Given the description of an element on the screen output the (x, y) to click on. 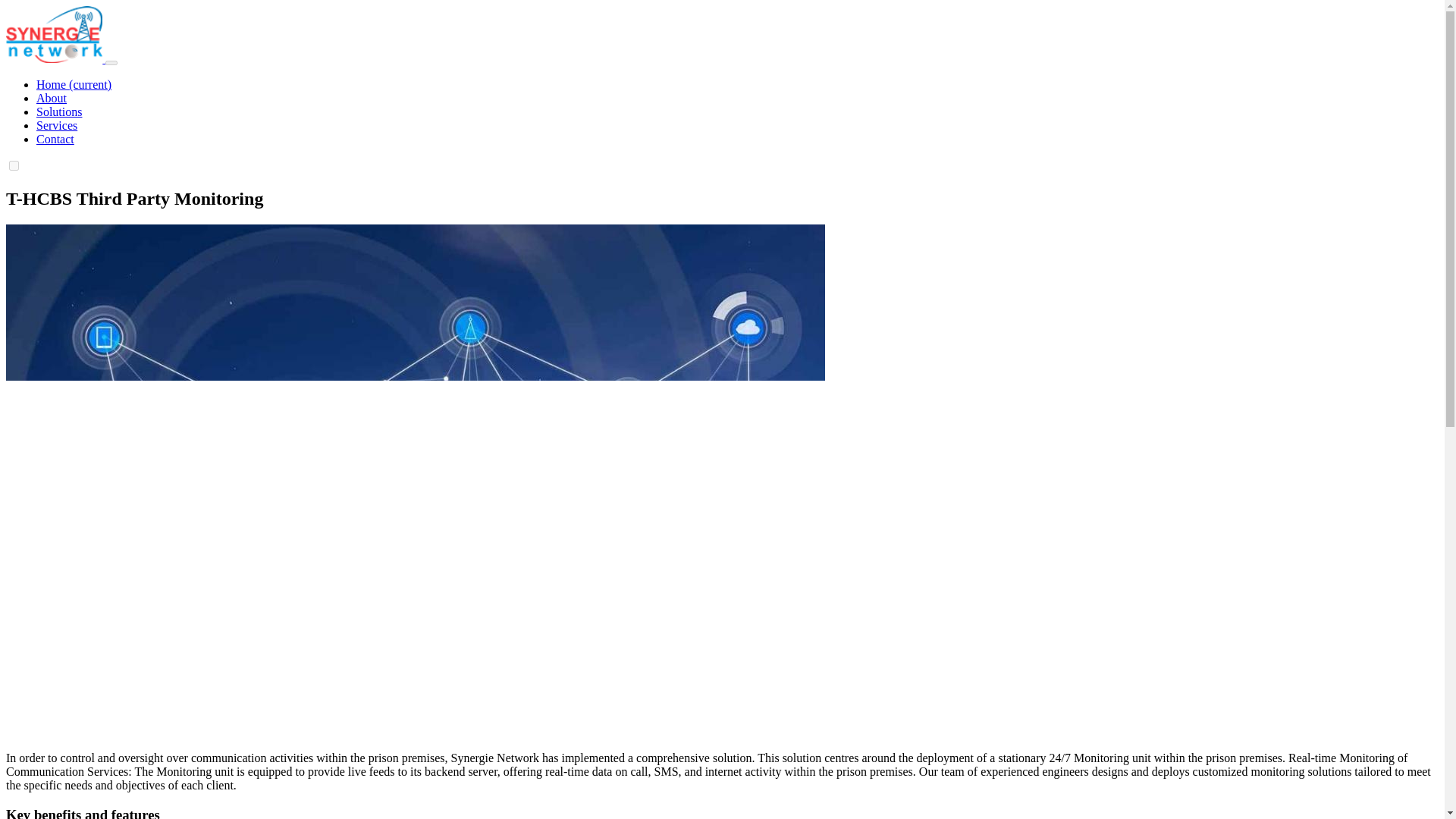
on (13, 165)
Contact (55, 138)
Services (56, 124)
About (51, 97)
Solutions (58, 111)
Your logo (53, 34)
